Given the description of an element on the screen output the (x, y) to click on. 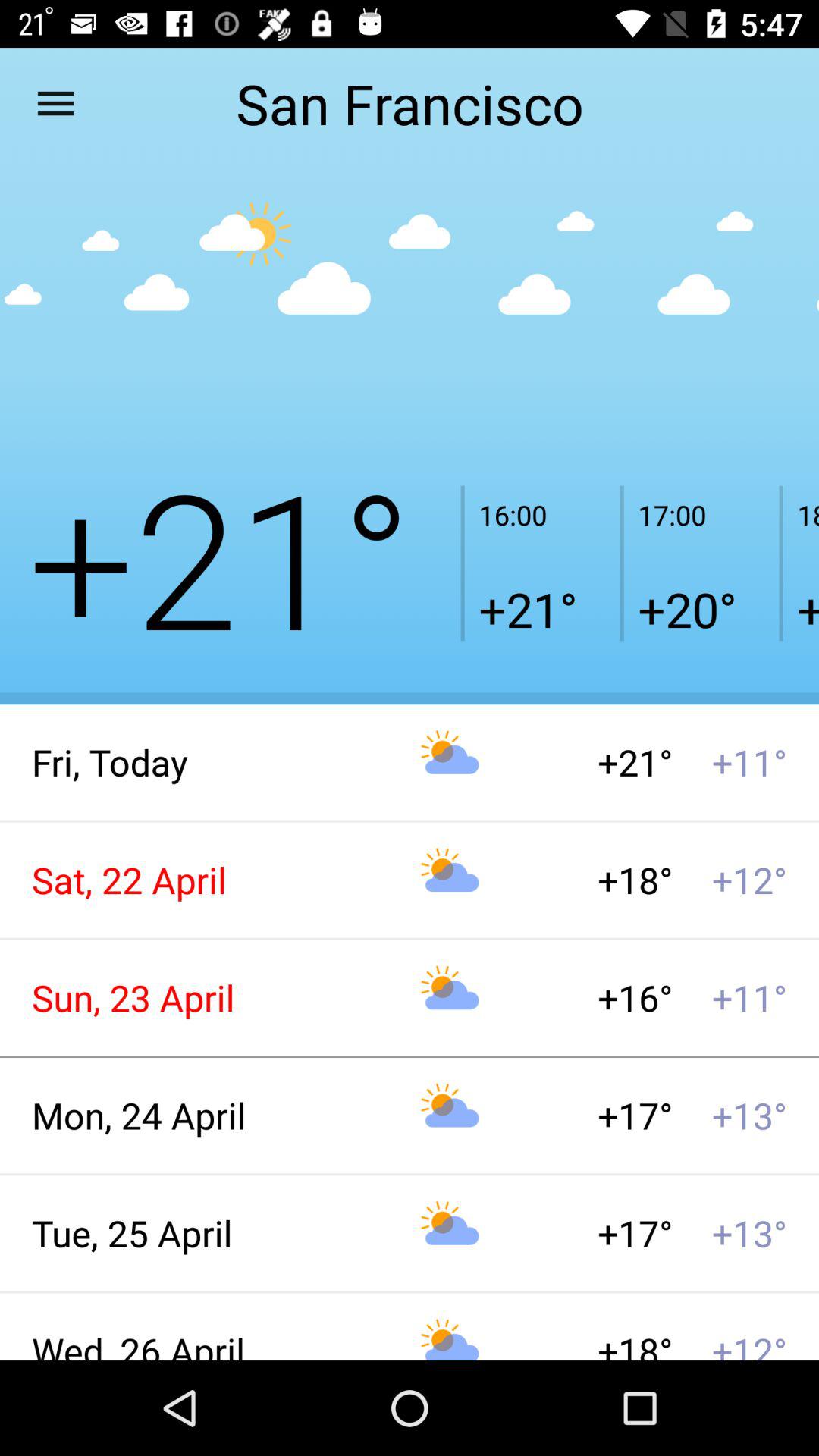
turn on the san francisco (409, 103)
